Given the description of an element on the screen output the (x, y) to click on. 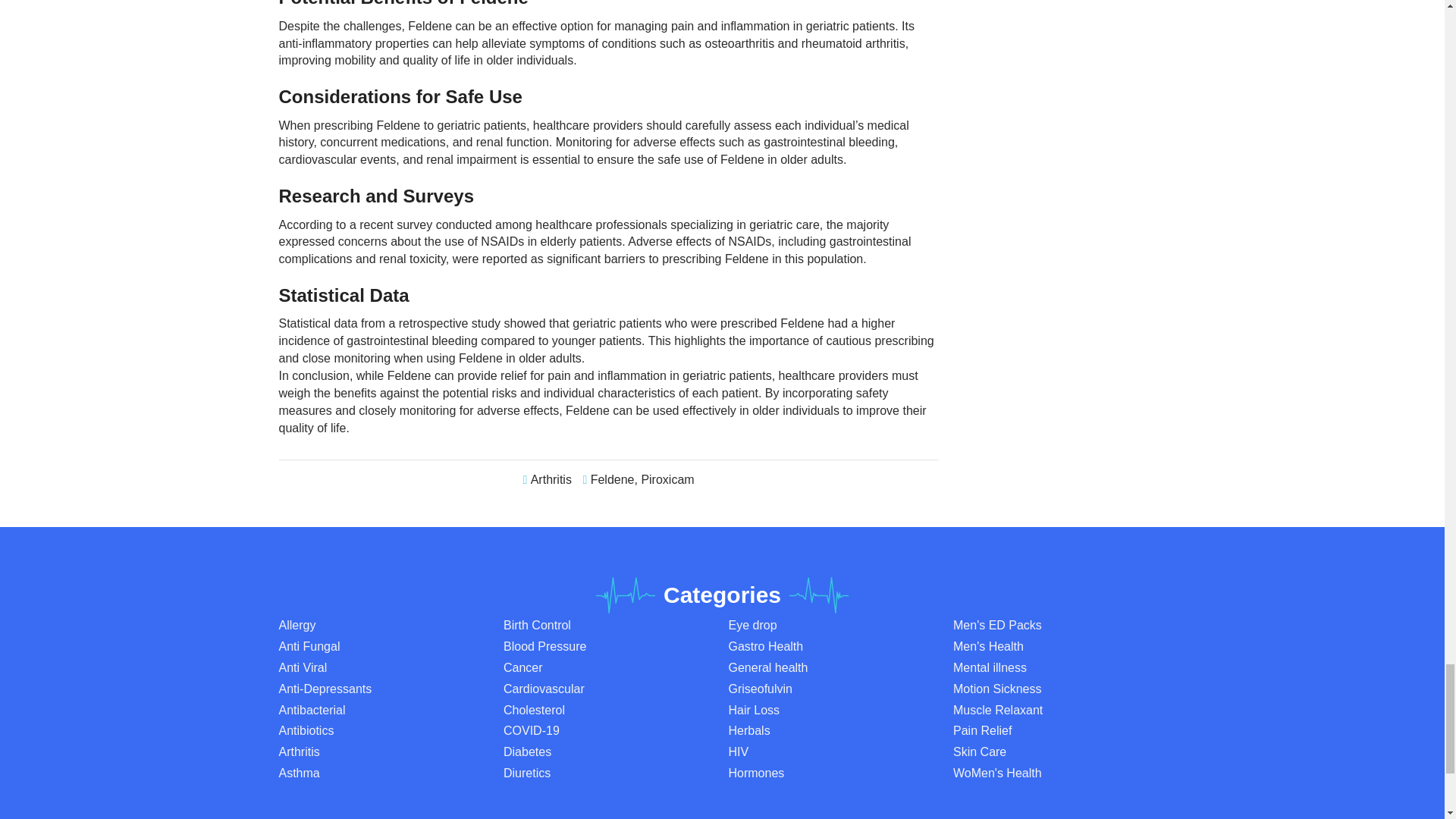
Arthritis (551, 479)
